Given the description of an element on the screen output the (x, y) to click on. 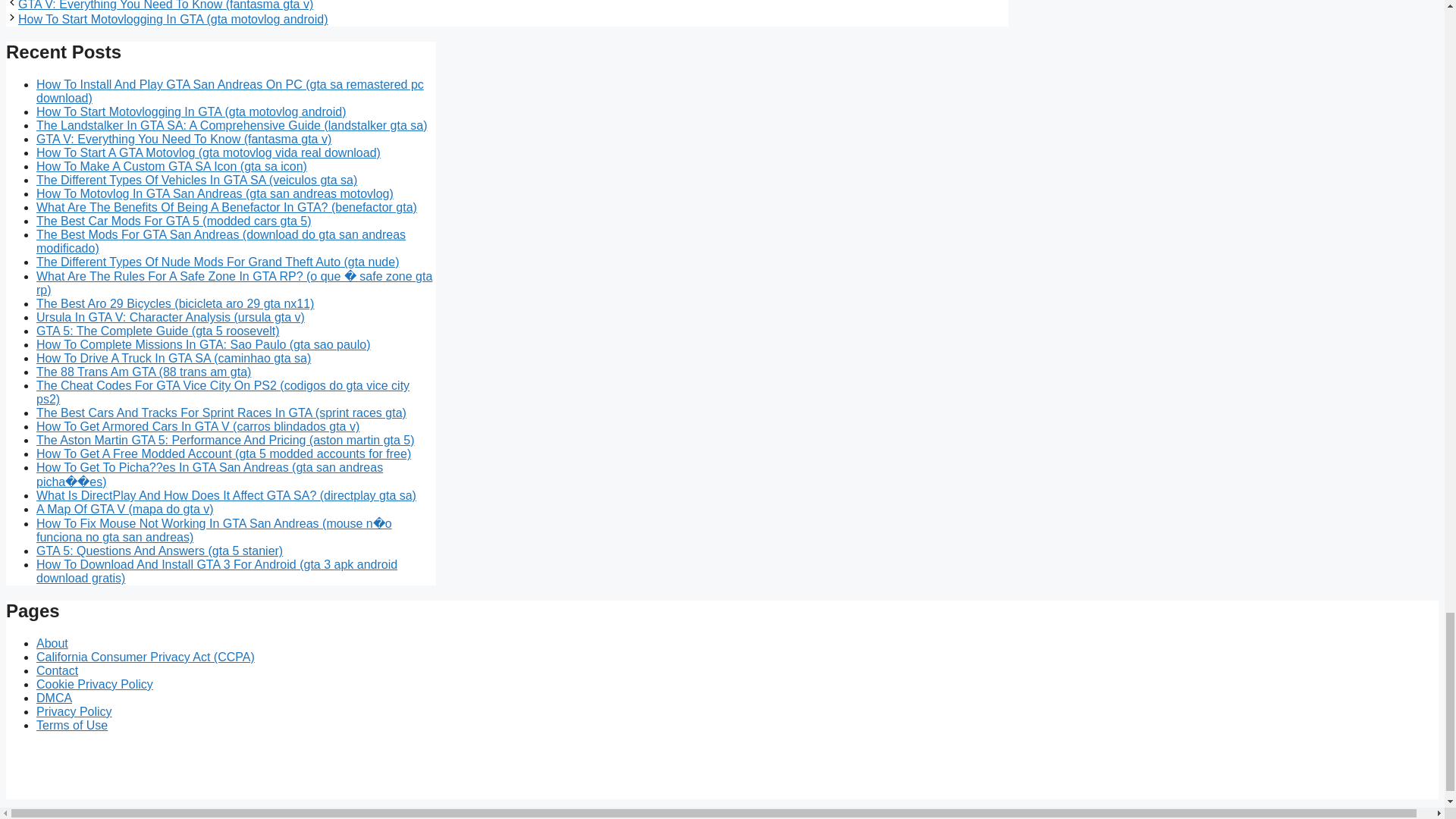
Next (173, 19)
Previous (165, 5)
